Given the description of an element on the screen output the (x, y) to click on. 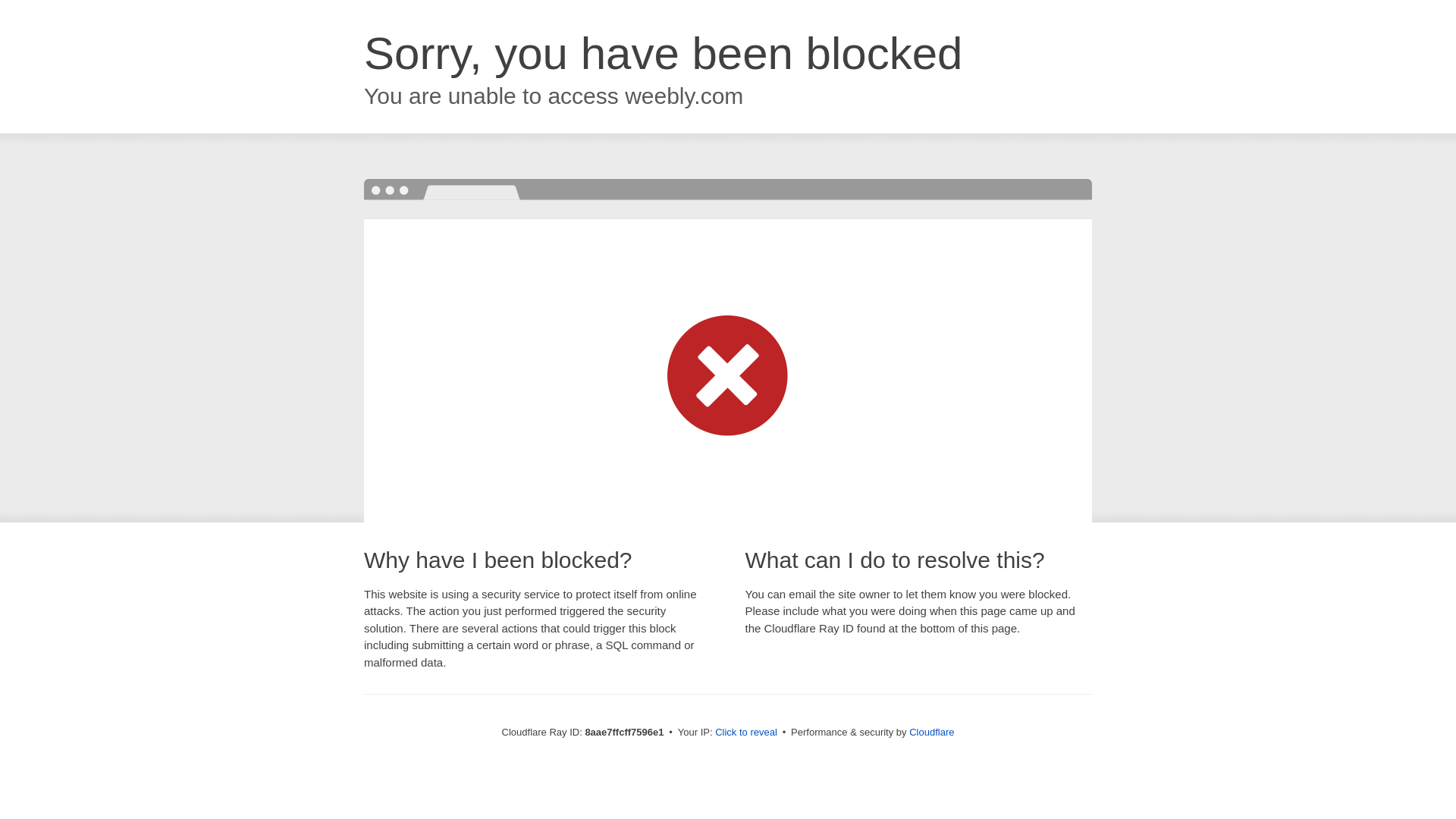
Cloudflare (930, 731)
Click to reveal (745, 732)
